Given the description of an element on the screen output the (x, y) to click on. 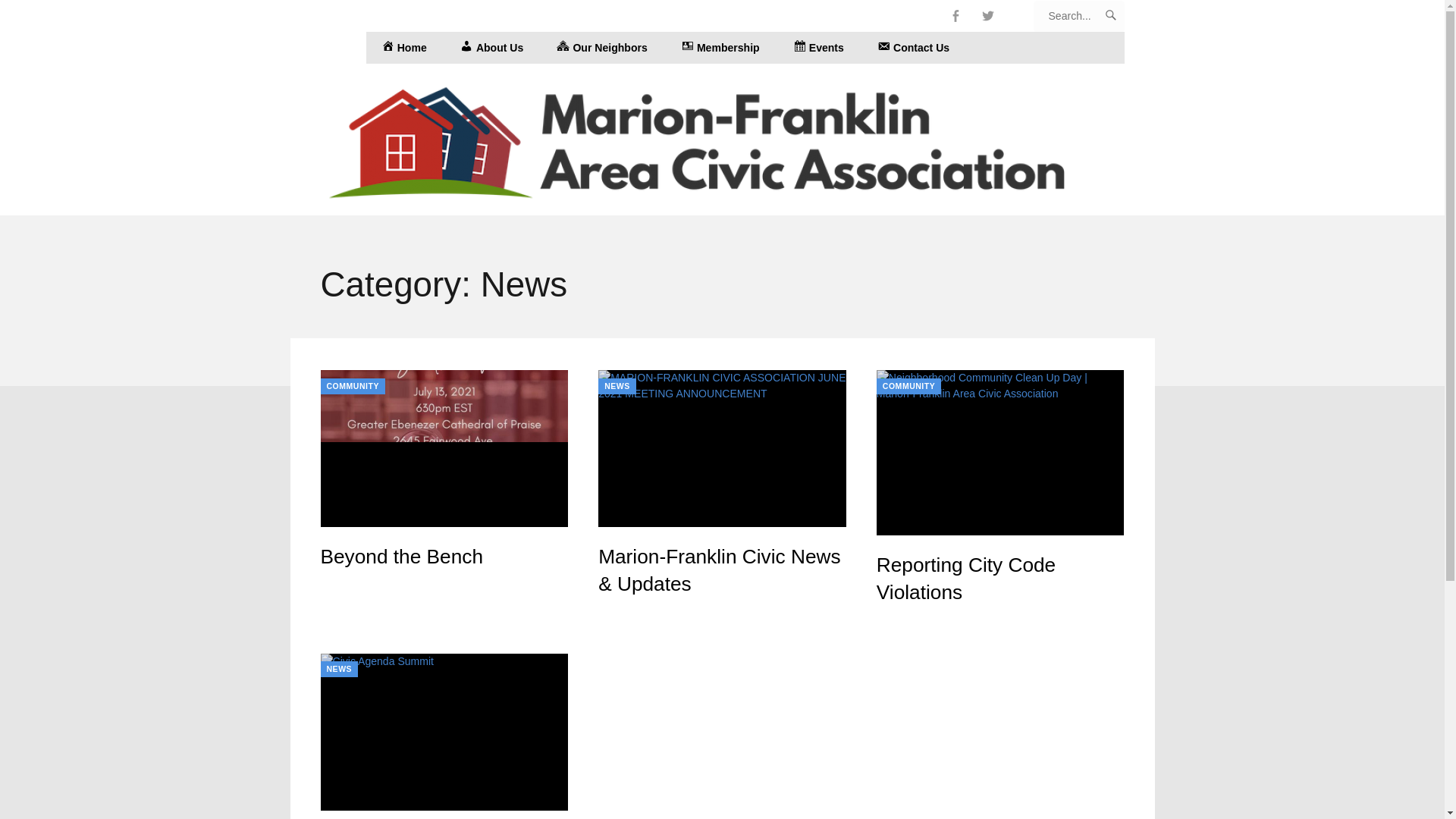
NEWS (339, 668)
Beyond the Bench (401, 556)
COMMUNITY (908, 385)
Contact Us (912, 47)
NEWS (617, 385)
Reporting City Code Violations (965, 578)
Our Neighbors (601, 47)
Marion-Franklin Area Civic Association (722, 139)
COMMUNITY (352, 385)
Events (818, 47)
